Given the description of an element on the screen output the (x, y) to click on. 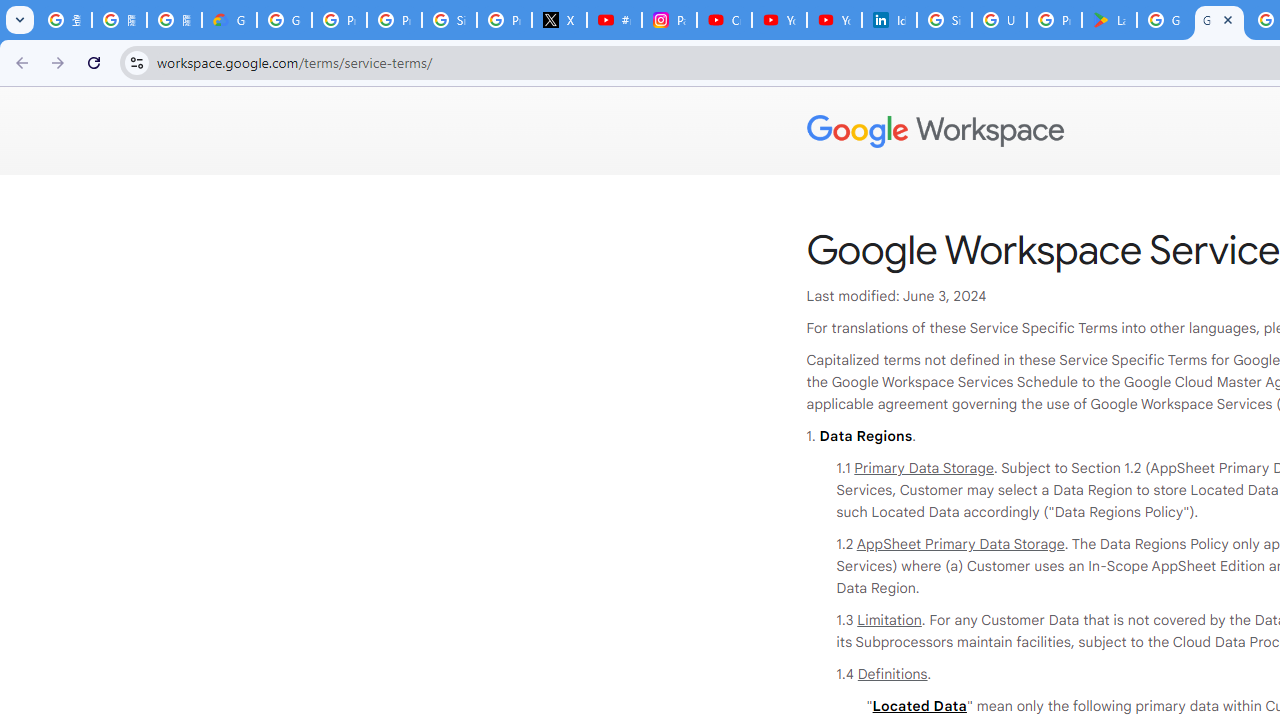
Google Cloud Privacy Notice (229, 20)
Privacy Help Center - Policies Help (394, 20)
X (559, 20)
Sign in - Google Accounts (449, 20)
Google Workspace - Specific Terms (1218, 20)
Sign in - Google Accounts (943, 20)
#nbabasketballhighlights - YouTube (614, 20)
